Given the description of an element on the screen output the (x, y) to click on. 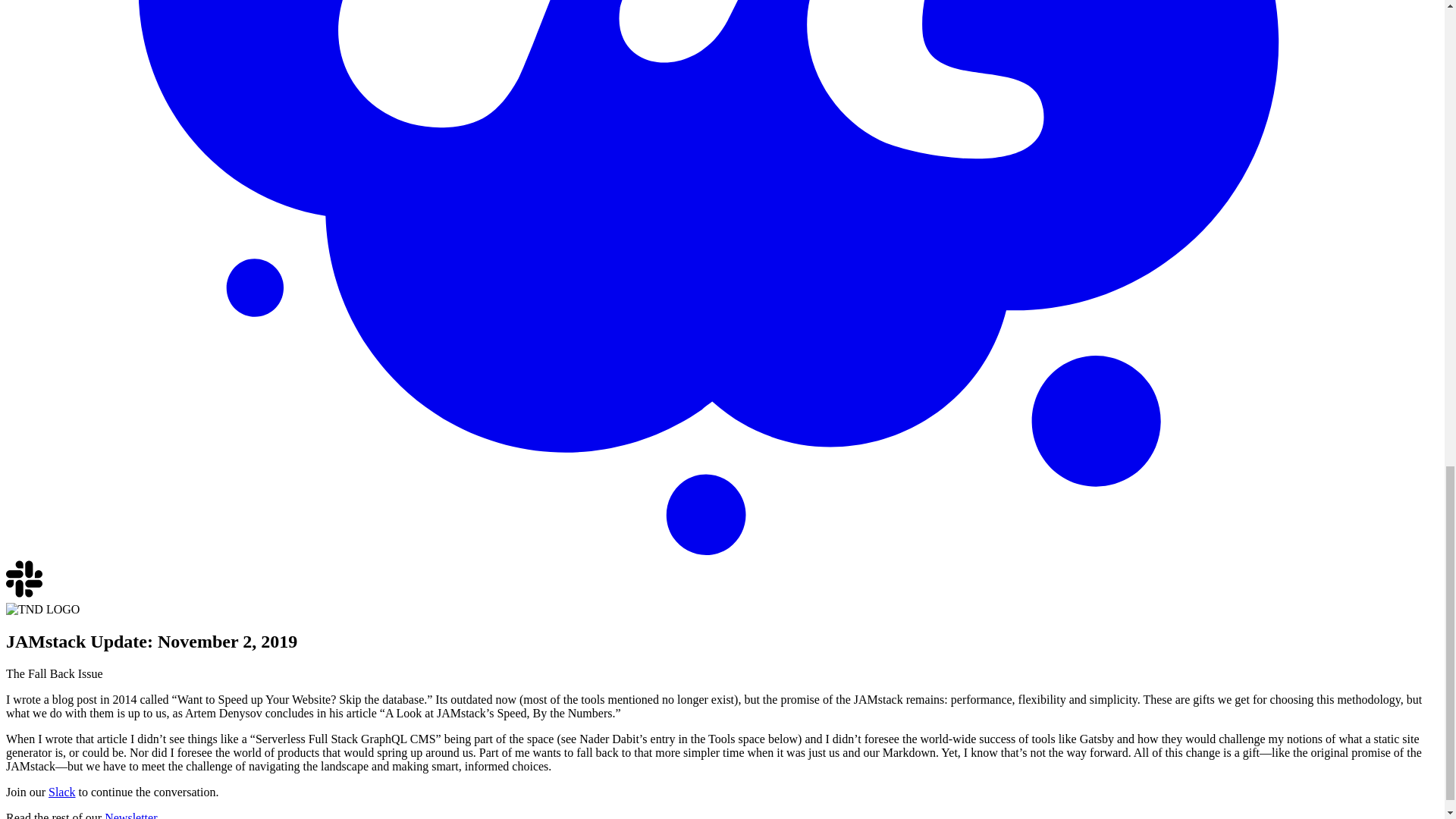
Slack (23, 594)
Slack (61, 791)
